Given the description of an element on the screen output the (x, y) to click on. 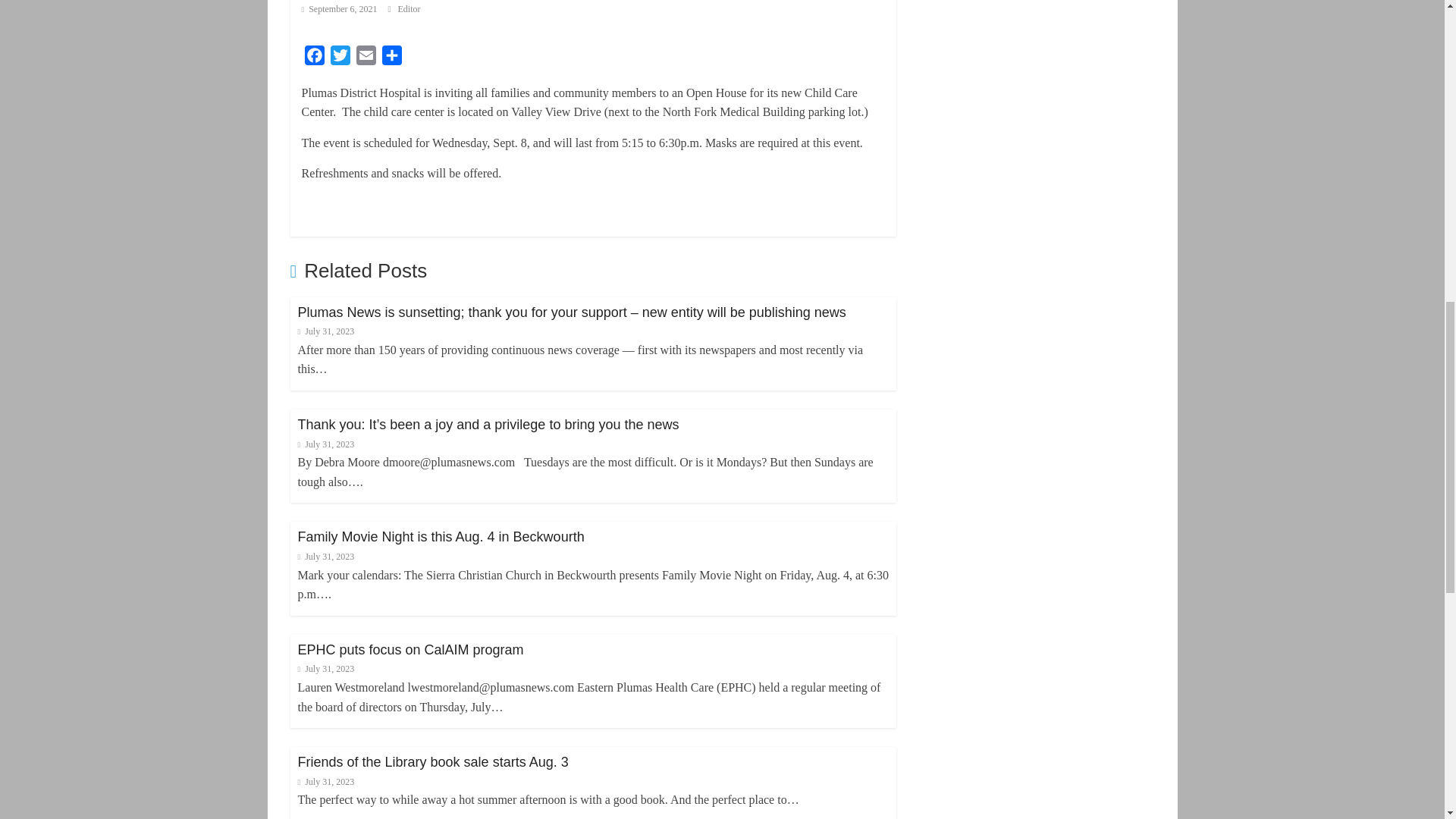
Twitter (340, 58)
7:30 am (339, 9)
Facebook (314, 58)
5:07 pm (325, 330)
Email (365, 58)
Editor (408, 9)
